Given the description of an element on the screen output the (x, y) to click on. 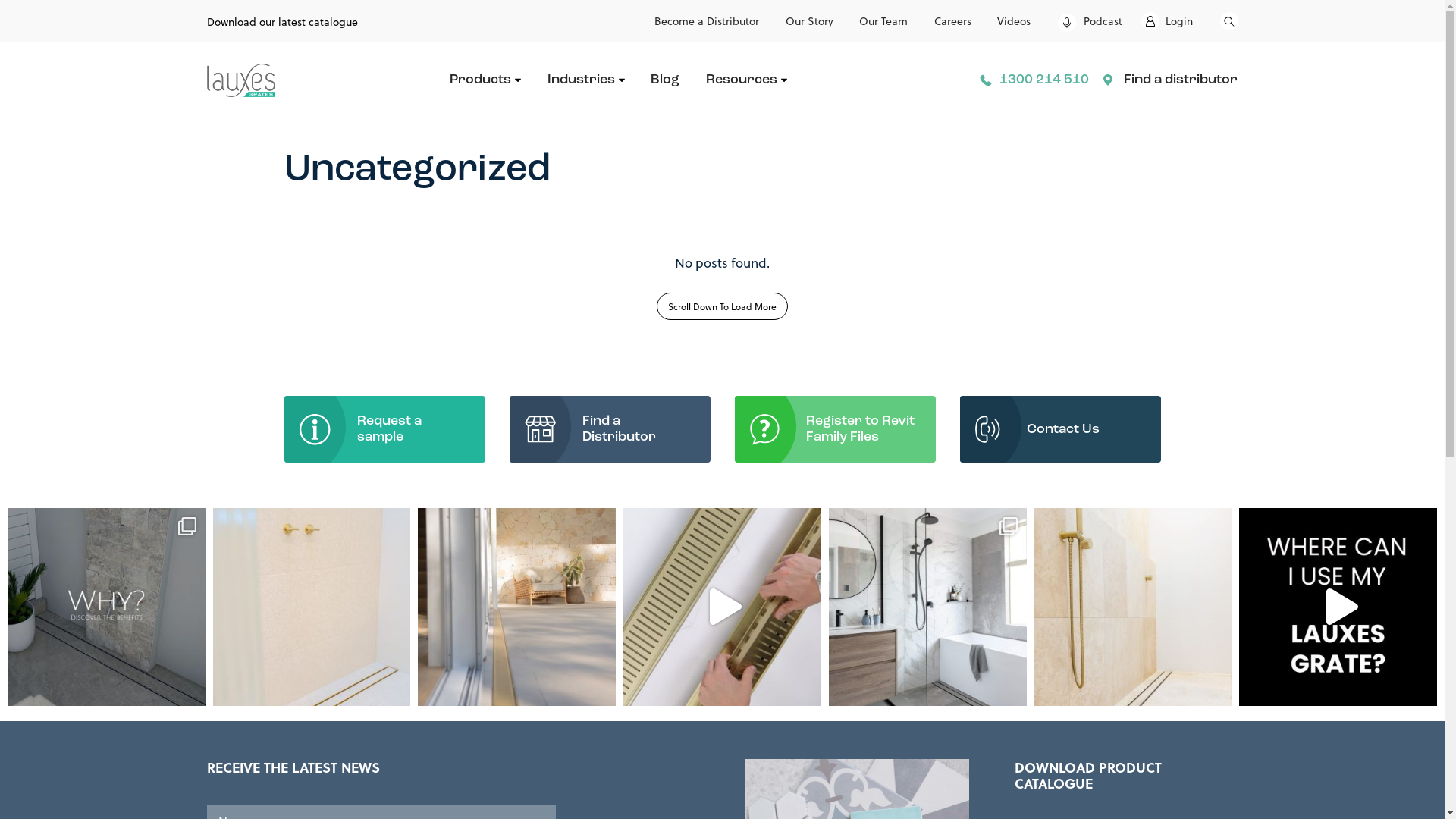
Contact Us Element type: text (1060, 428)
Our Story Element type: text (809, 20)
Find a distributor Element type: text (1175, 79)
Download our latest catalogue Element type: text (281, 21)
Industries Element type: text (586, 80)
Register to Revit Family Files Element type: text (834, 428)
1300 214 510 Element type: text (1037, 79)
Careers Element type: text (952, 20)
Resources Element type: text (746, 80)
Our Team Element type: text (883, 20)
Videos Element type: text (1013, 20)
Blog Element type: text (664, 80)
Become a Distributor Element type: text (706, 20)
Products Element type: text (485, 80)
Login Element type: text (1166, 21)
Search Element type: hover (1228, 21)
Find a Distributor Element type: text (609, 428)
Request a sample Element type: text (383, 428)
Podcast Element type: text (1089, 21)
